Given the description of an element on the screen output the (x, y) to click on. 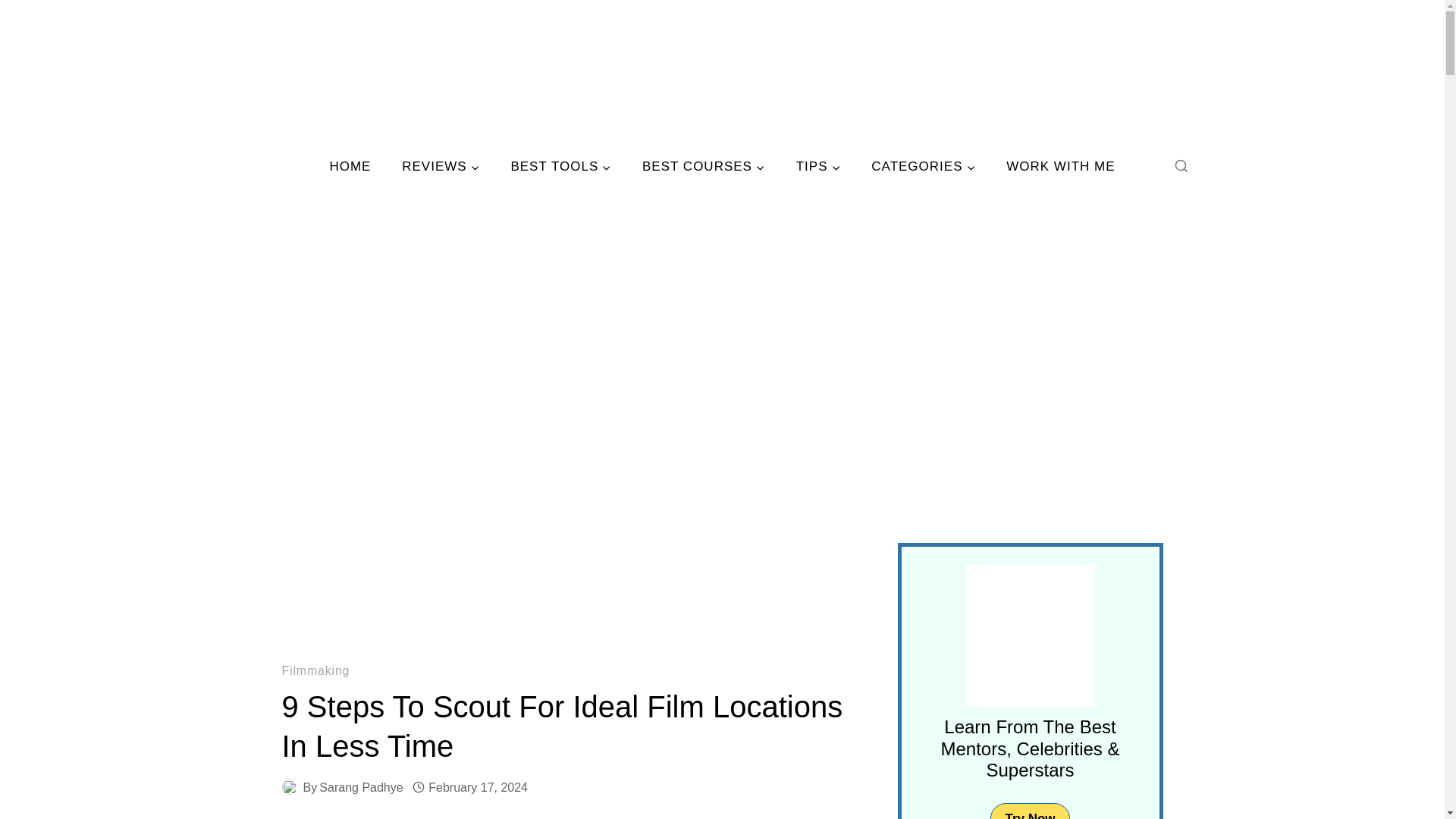
REVIEWS (441, 166)
HOME (350, 166)
TIPS (818, 166)
BEST TOOLS (561, 166)
BEST COURSES (703, 166)
CATEGORIES (923, 166)
